Given the description of an element on the screen output the (x, y) to click on. 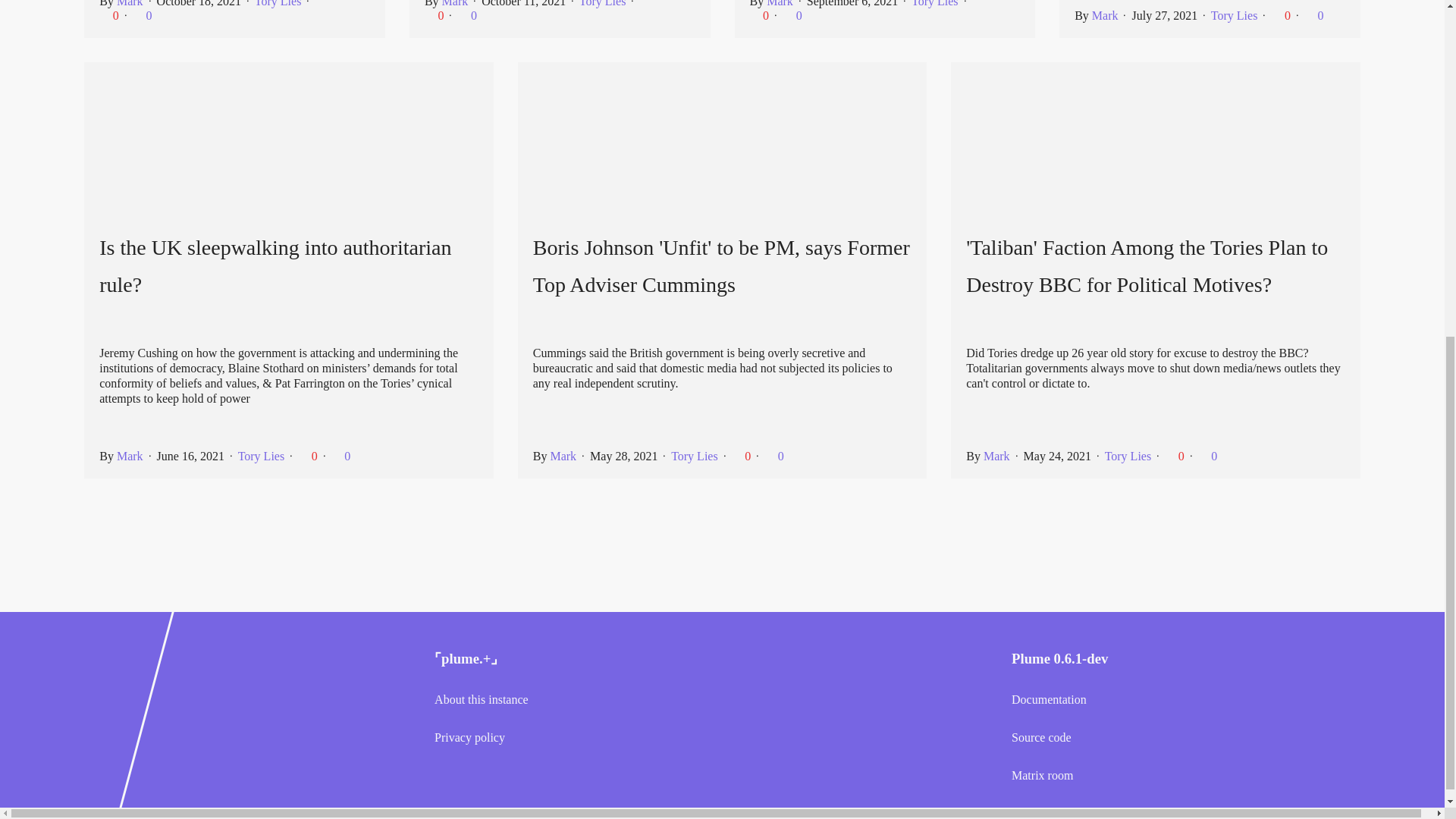
Mark (563, 455)
0 likes (1176, 455)
Tory Lies (1128, 455)
0 boosts (1207, 455)
0 boosts (792, 15)
Matrix room (1155, 775)
About this instance (578, 699)
Mark (1105, 15)
Tory Lies (694, 455)
